Given the description of an element on the screen output the (x, y) to click on. 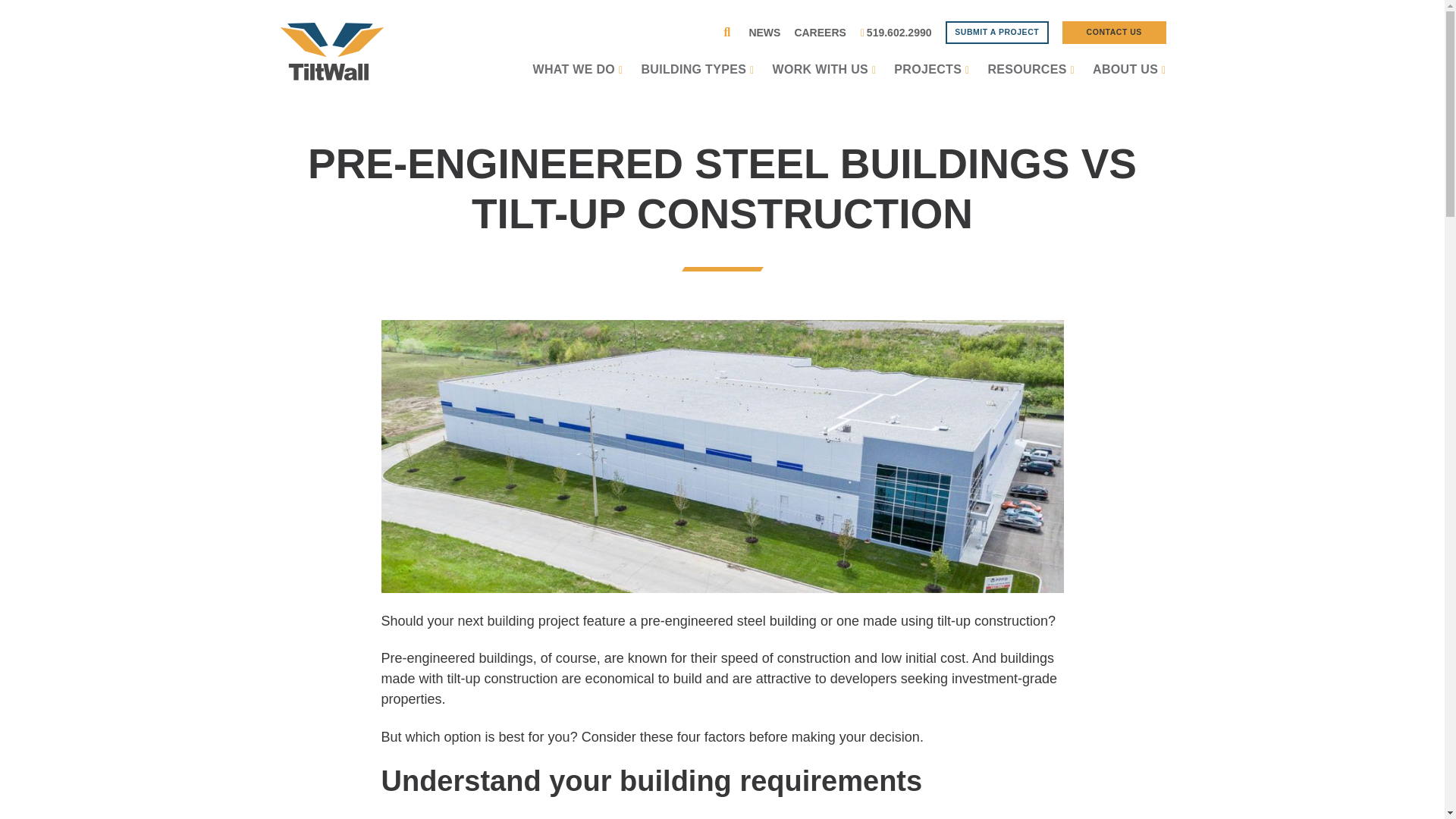
WHAT WE DO (577, 73)
BUILDING TYPES (697, 73)
CAREERS (819, 32)
519.602.2990 (895, 32)
RESOURCES (1030, 73)
CONTACT US (1114, 32)
NEWS (764, 32)
SUBMIT A PROJECT (996, 32)
PROJECTS (931, 73)
WORK WITH US (824, 73)
